Given the description of an element on the screen output the (x, y) to click on. 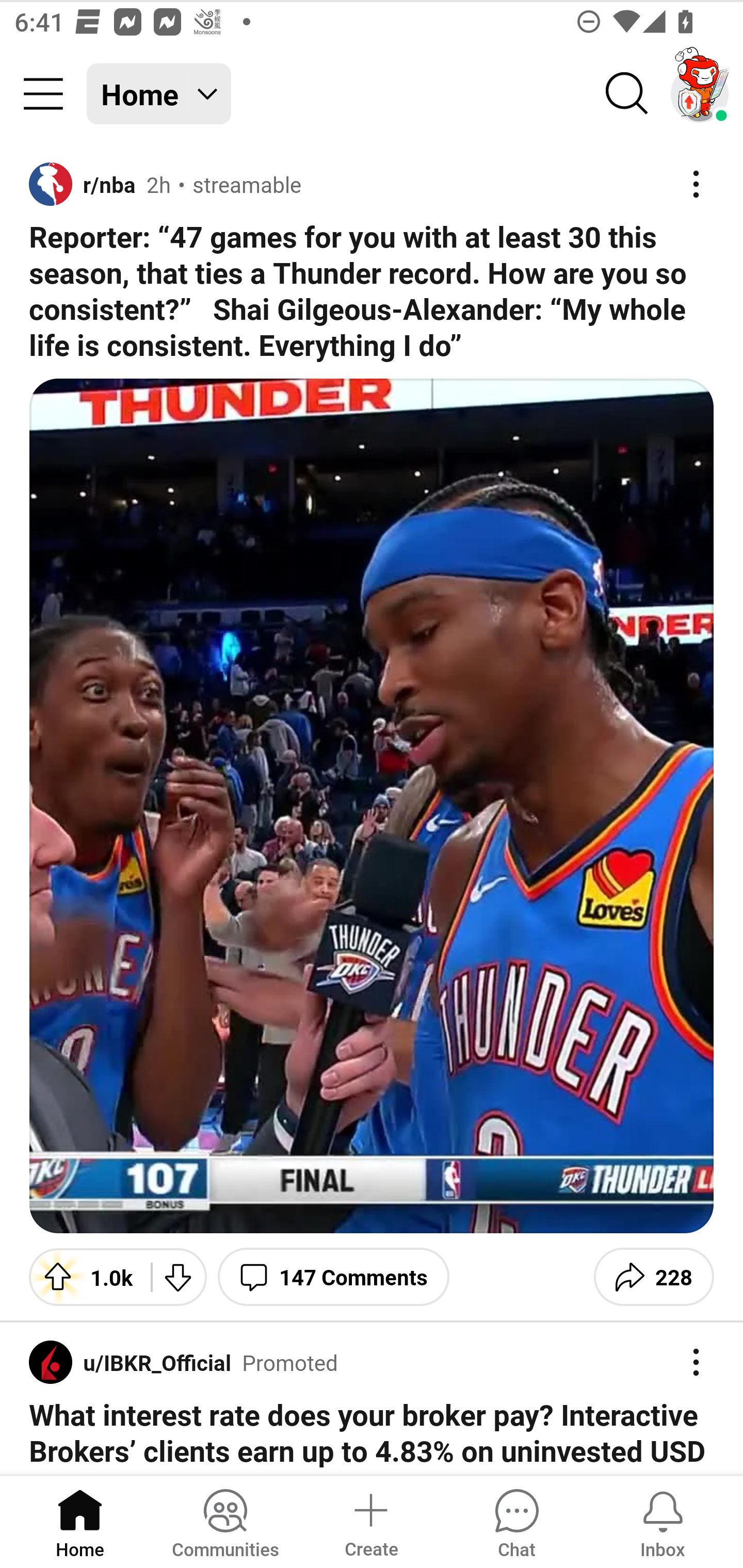
Community menu (43, 93)
Home Home feed (158, 93)
Search (626, 93)
TestAppium002 account (699, 93)
Home (80, 1520)
Communities (225, 1520)
Create a post Create (370, 1520)
Chat (516, 1520)
Inbox (662, 1520)
